Given the description of an element on the screen output the (x, y) to click on. 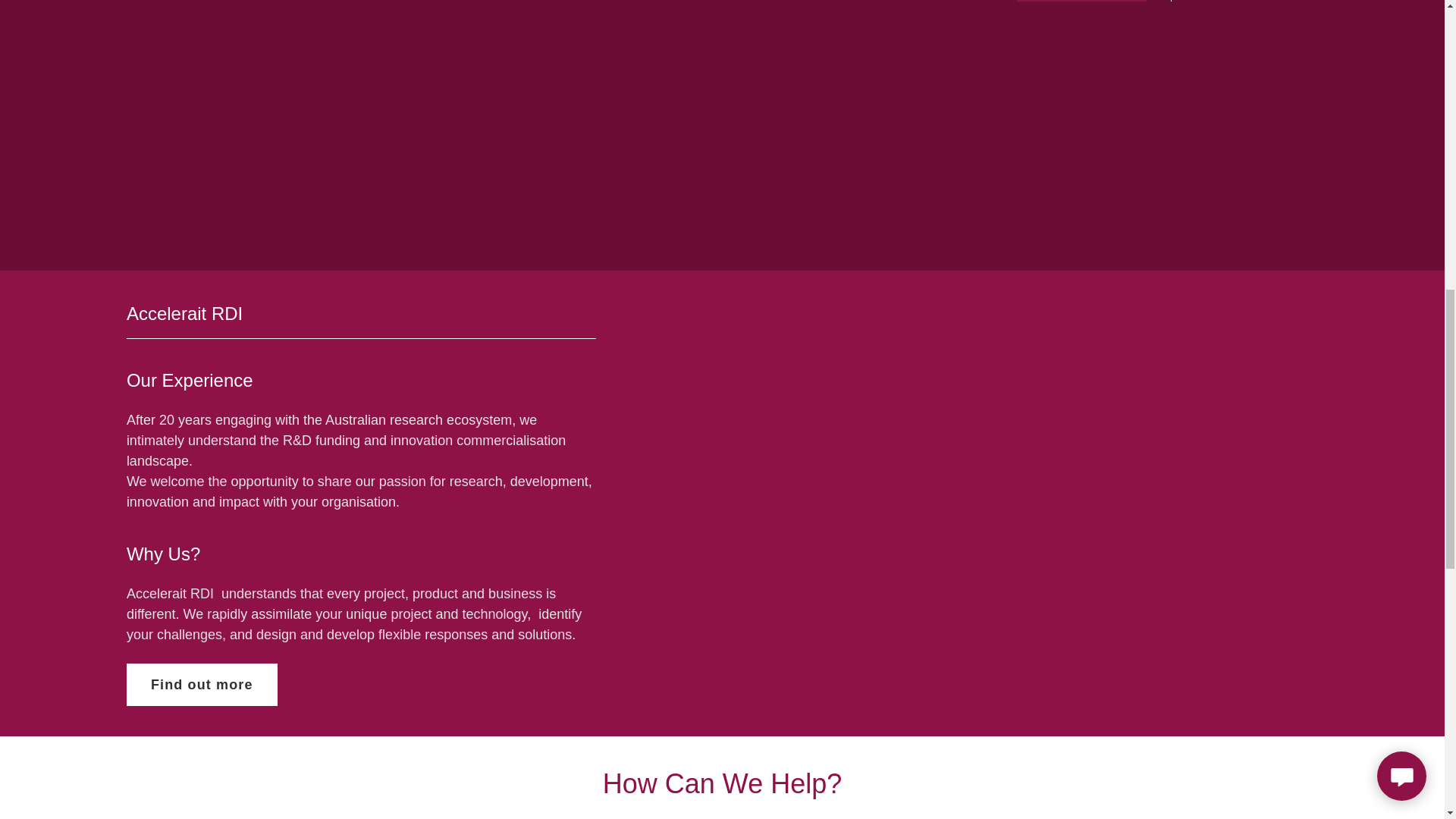
Contact Us (1080, 0)
Find out more (202, 684)
